Given the description of an element on the screen output the (x, y) to click on. 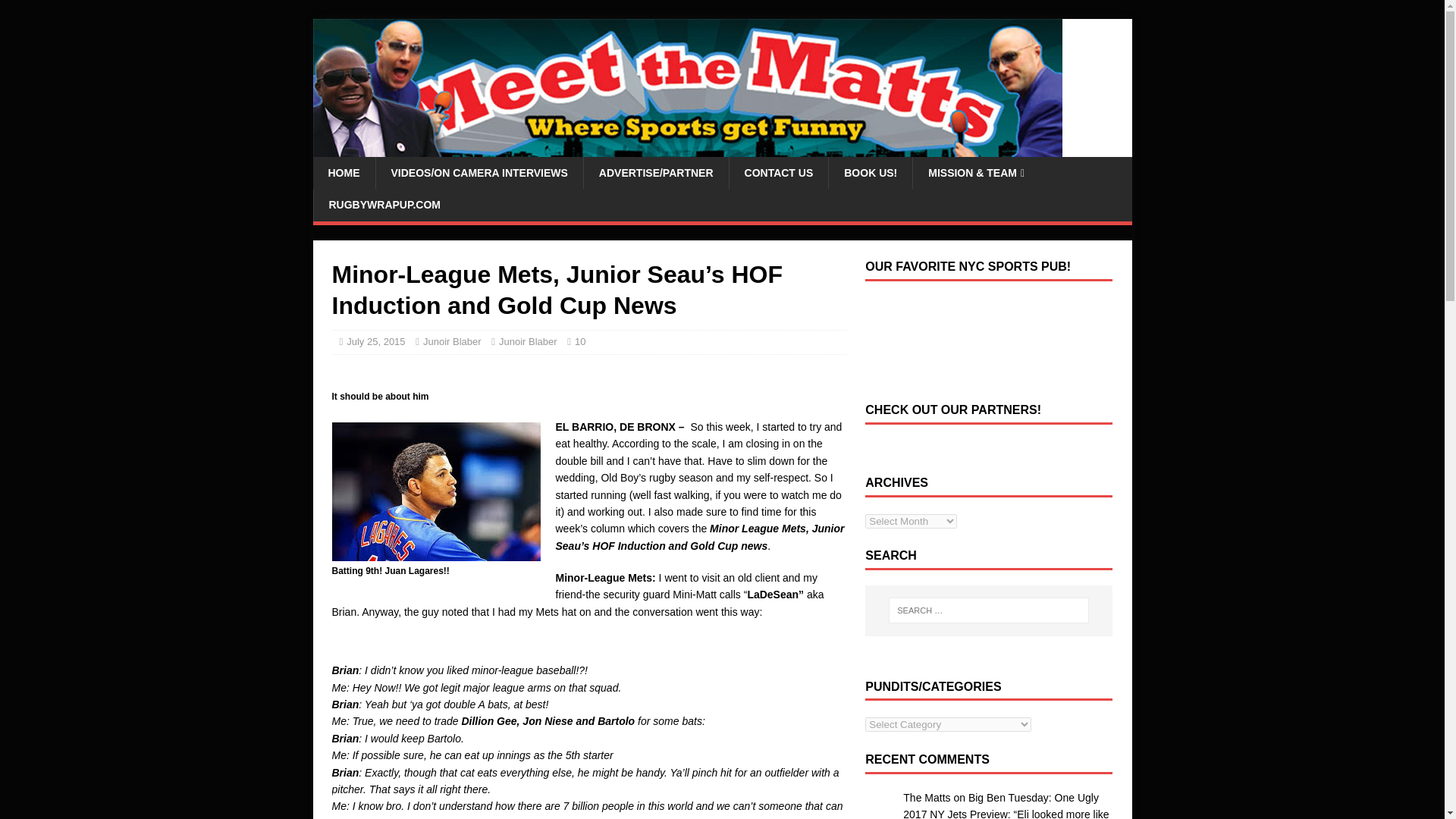
CONTACT US (778, 173)
10 (580, 341)
Meet The Matts (687, 148)
10 (580, 341)
HOME (343, 173)
Junoir Blaber (452, 341)
BOOK US! (870, 173)
Junoir Blaber (528, 341)
RUGBYWRAPUP.COM (384, 204)
July 25, 2015 (375, 341)
